Given the description of an element on the screen output the (x, y) to click on. 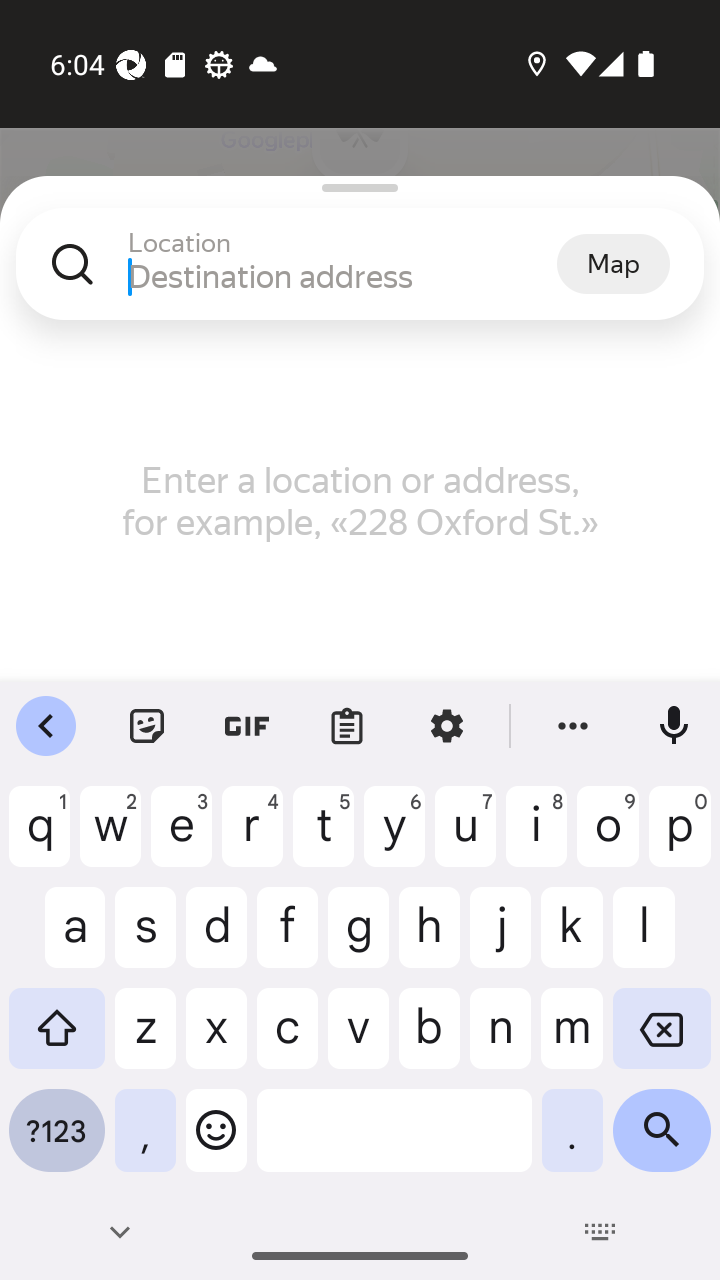
Location Destination address Map (360, 280)
Map (613, 263)
Destination address (341, 276)
